Given the description of an element on the screen output the (x, y) to click on. 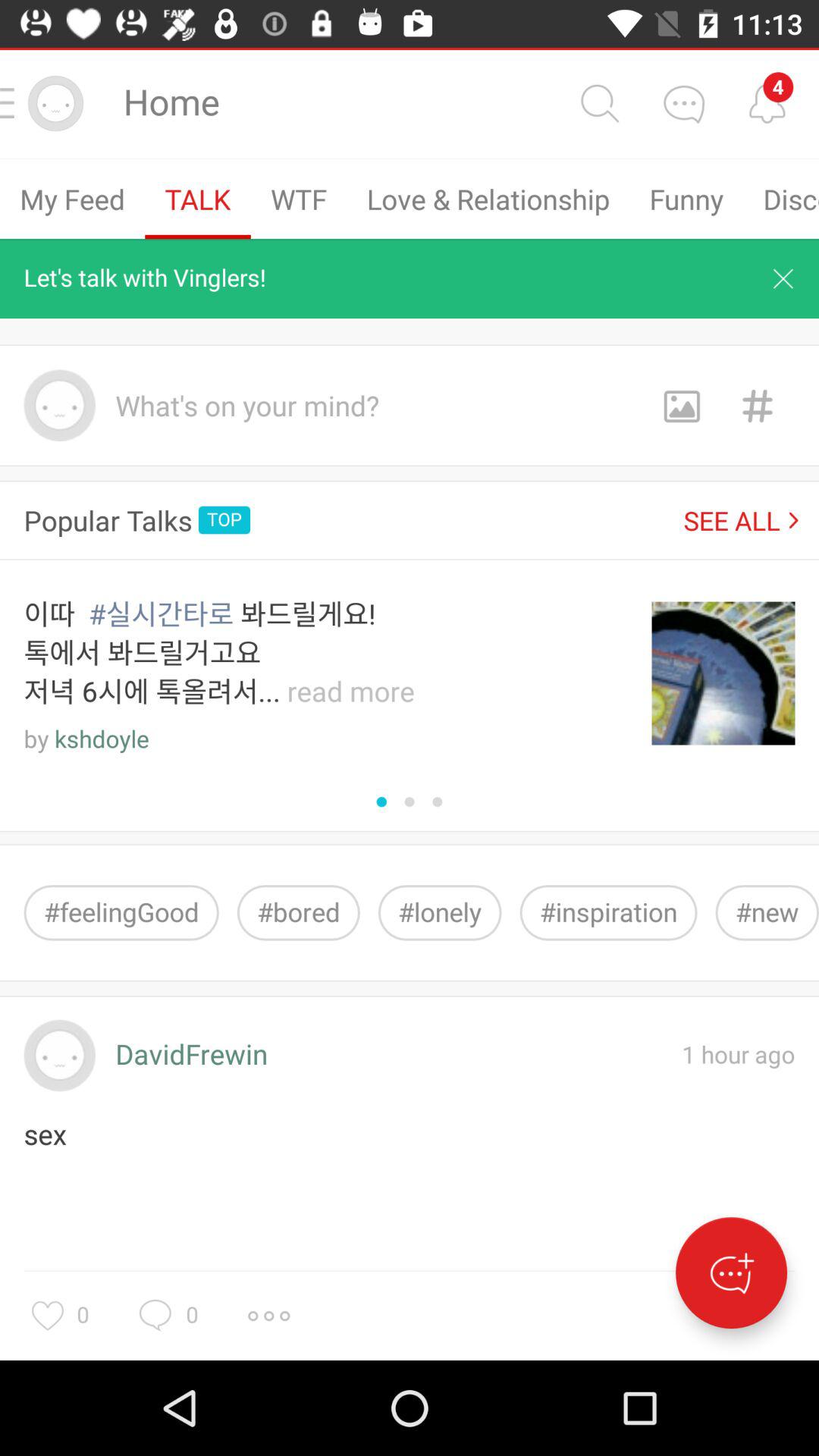
search (599, 103)
